Given the description of an element on the screen output the (x, y) to click on. 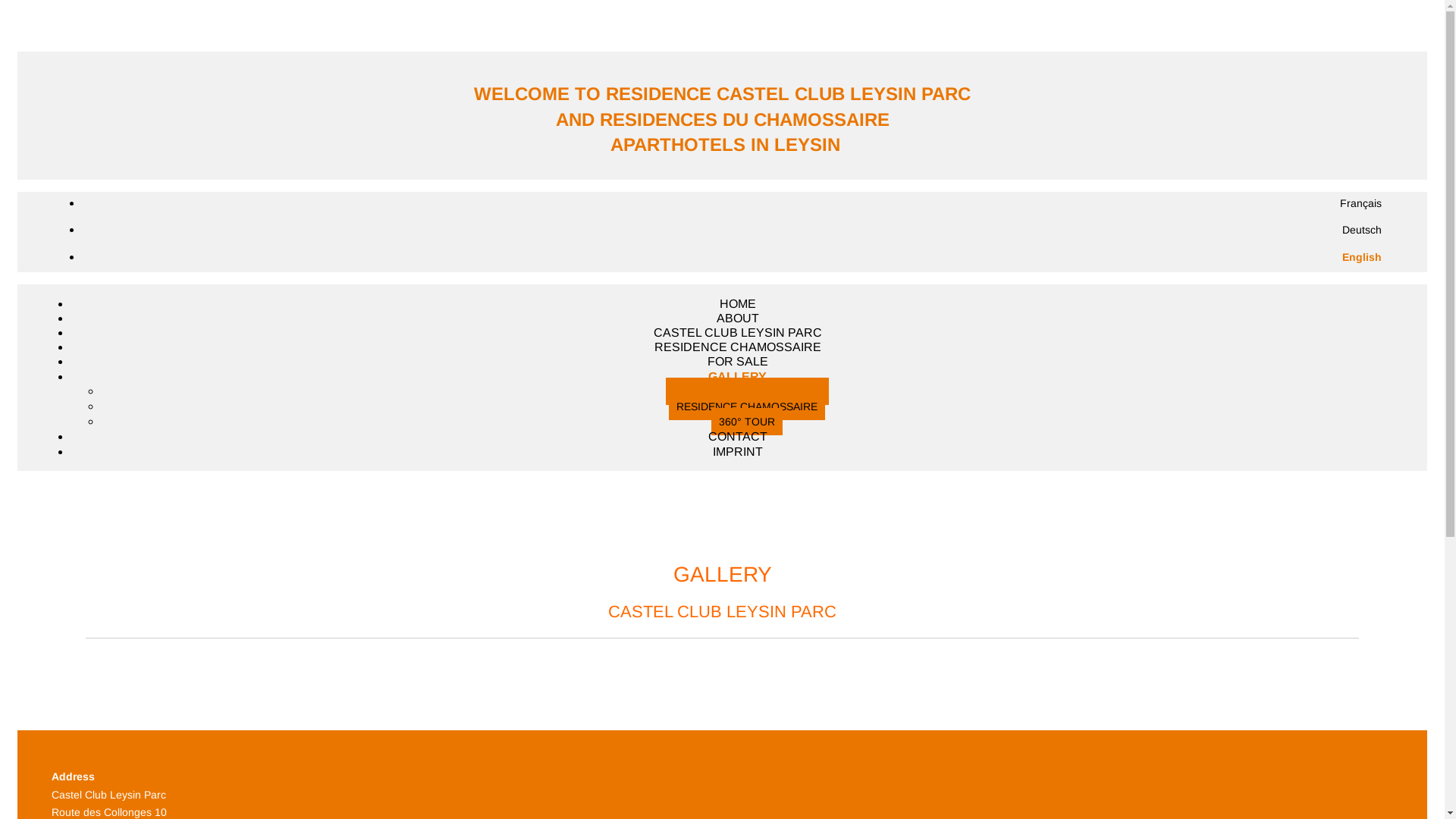
GALLERY Element type: text (737, 376)
Deutsch Element type: text (1361, 229)
RESIDENCE CHAMOSSAIRE Element type: text (746, 406)
CONTACT Element type: text (737, 436)
CASTEL CLUB LEYSIN PARC Element type: text (737, 332)
ABOUT Element type: text (736, 318)
IMPRINT Element type: text (737, 451)
FOR SALE Element type: text (736, 361)
English Element type: text (1361, 257)
RESIDENCE CHAMOSSAIRE Element type: text (736, 346)
HOME Element type: text (736, 303)
CASTEL CLUB LEYSIN PARC Element type: text (746, 390)
